Given the description of an element on the screen output the (x, y) to click on. 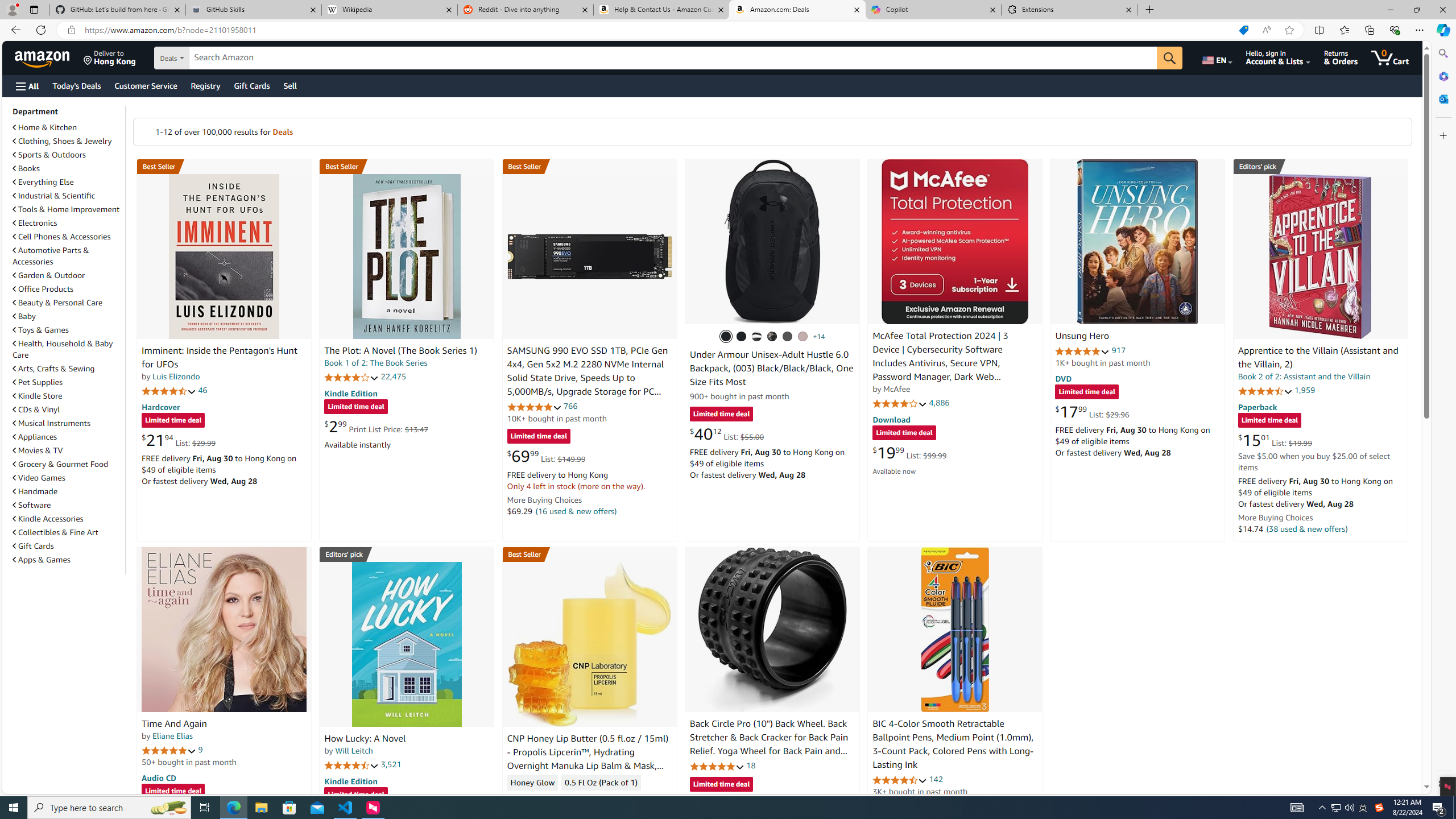
4.7 out of 5 stars (168, 390)
Amazon.com: Deals (797, 9)
$40.12 List: $55.00 (726, 433)
CDs & Vinyl (36, 409)
22,475 (393, 376)
The Plot: A Novel (The Book Series 1) (400, 351)
Reddit - Dive into anything (525, 9)
Eliane Elias (171, 735)
Skip to main content (48, 56)
Help & Contact Us - Amazon Customer Service (660, 9)
Restore (1416, 9)
Baby (24, 316)
Split screen (1318, 29)
